Given the description of an element on the screen output the (x, y) to click on. 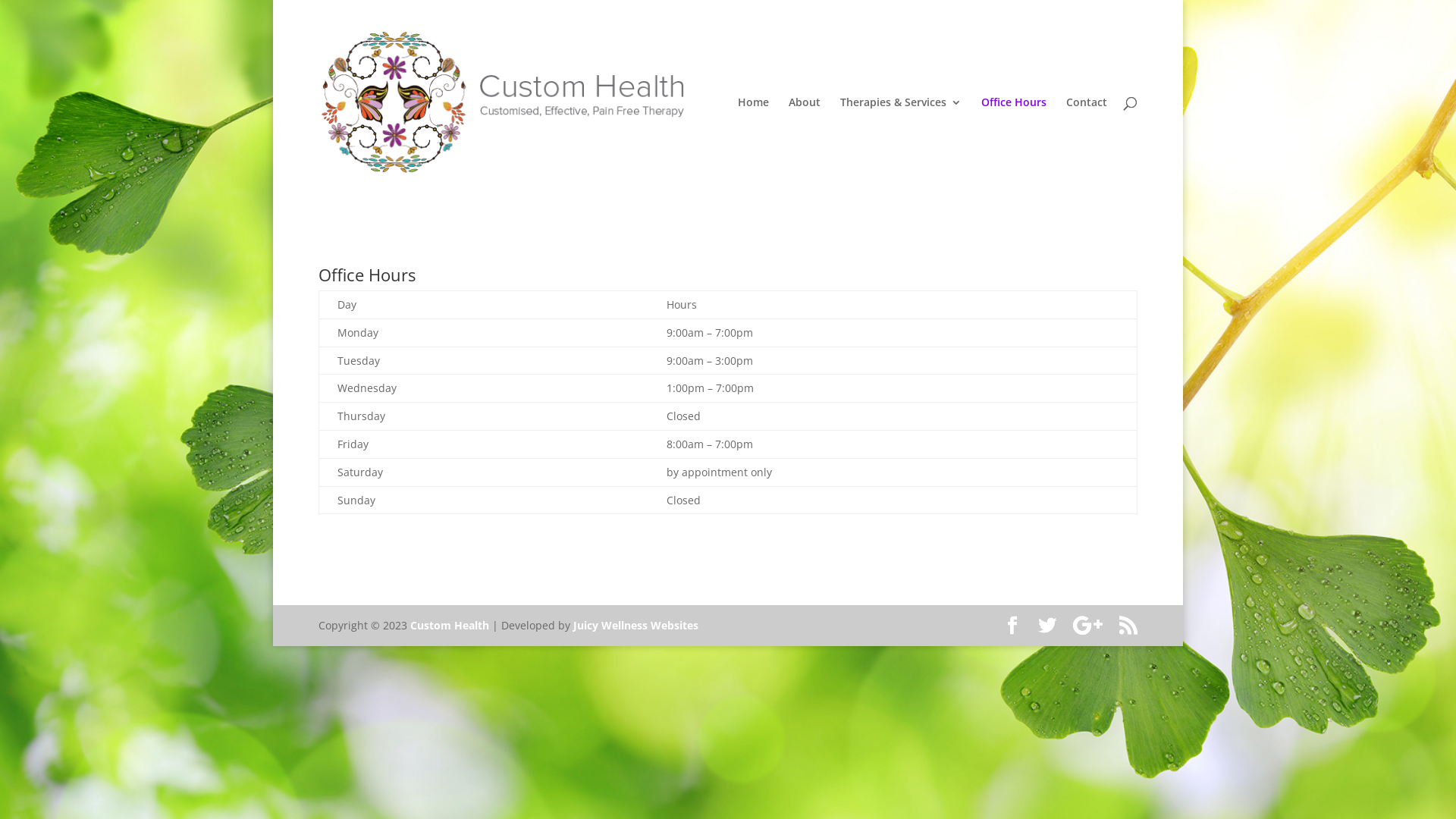
Home Element type: text (752, 150)
About Element type: text (804, 150)
Custom Health Element type: text (449, 625)
Juicy Wellness Websites Element type: text (635, 625)
Office Hours Element type: text (1013, 150)
Therapies & Services Element type: text (900, 150)
Contact Element type: text (1086, 150)
